Given the description of an element on the screen output the (x, y) to click on. 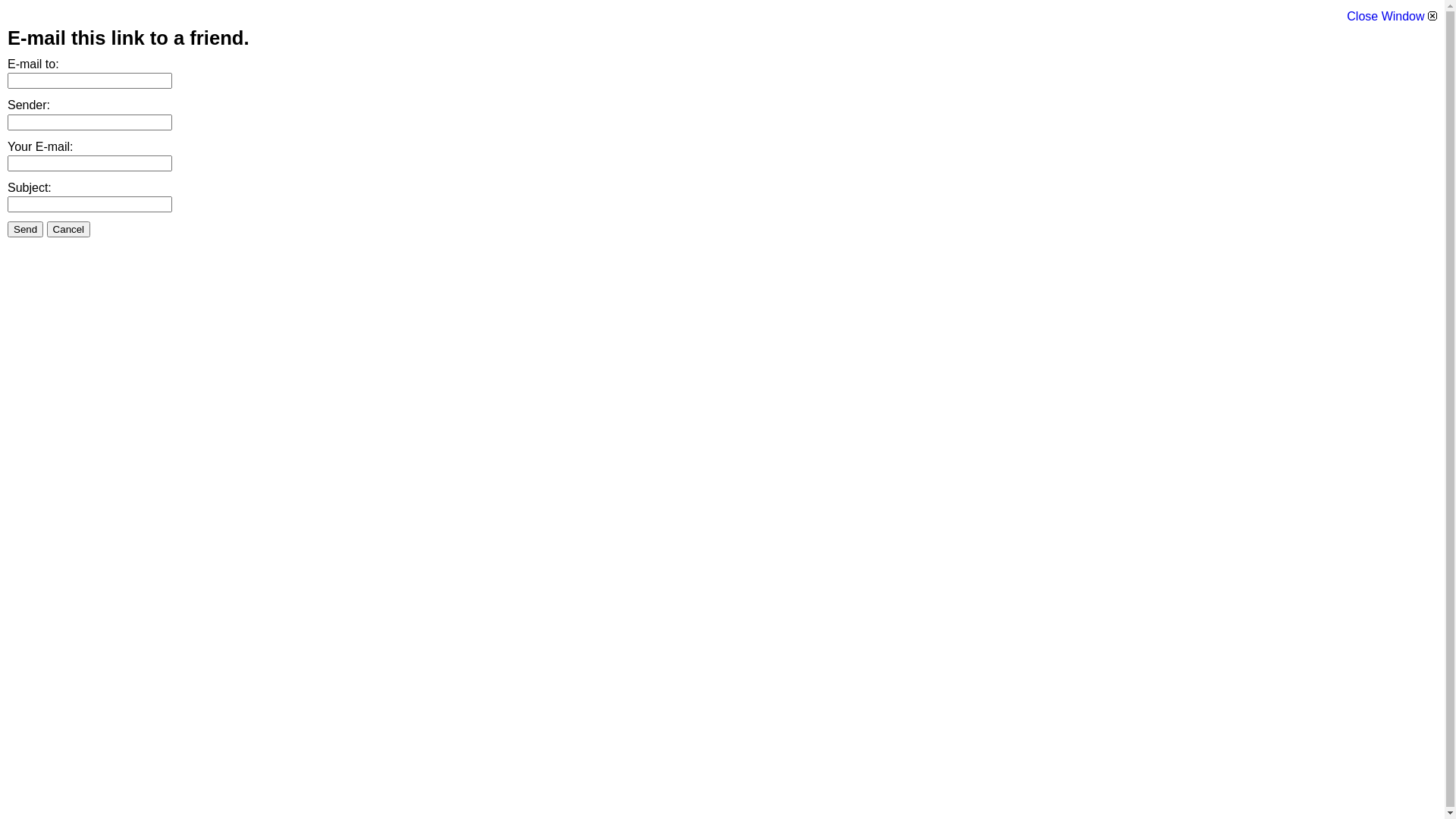
Cancel Element type: text (69, 229)
Close Window Element type: text (1391, 15)
Send Element type: text (25, 229)
